Given the description of an element on the screen output the (x, y) to click on. 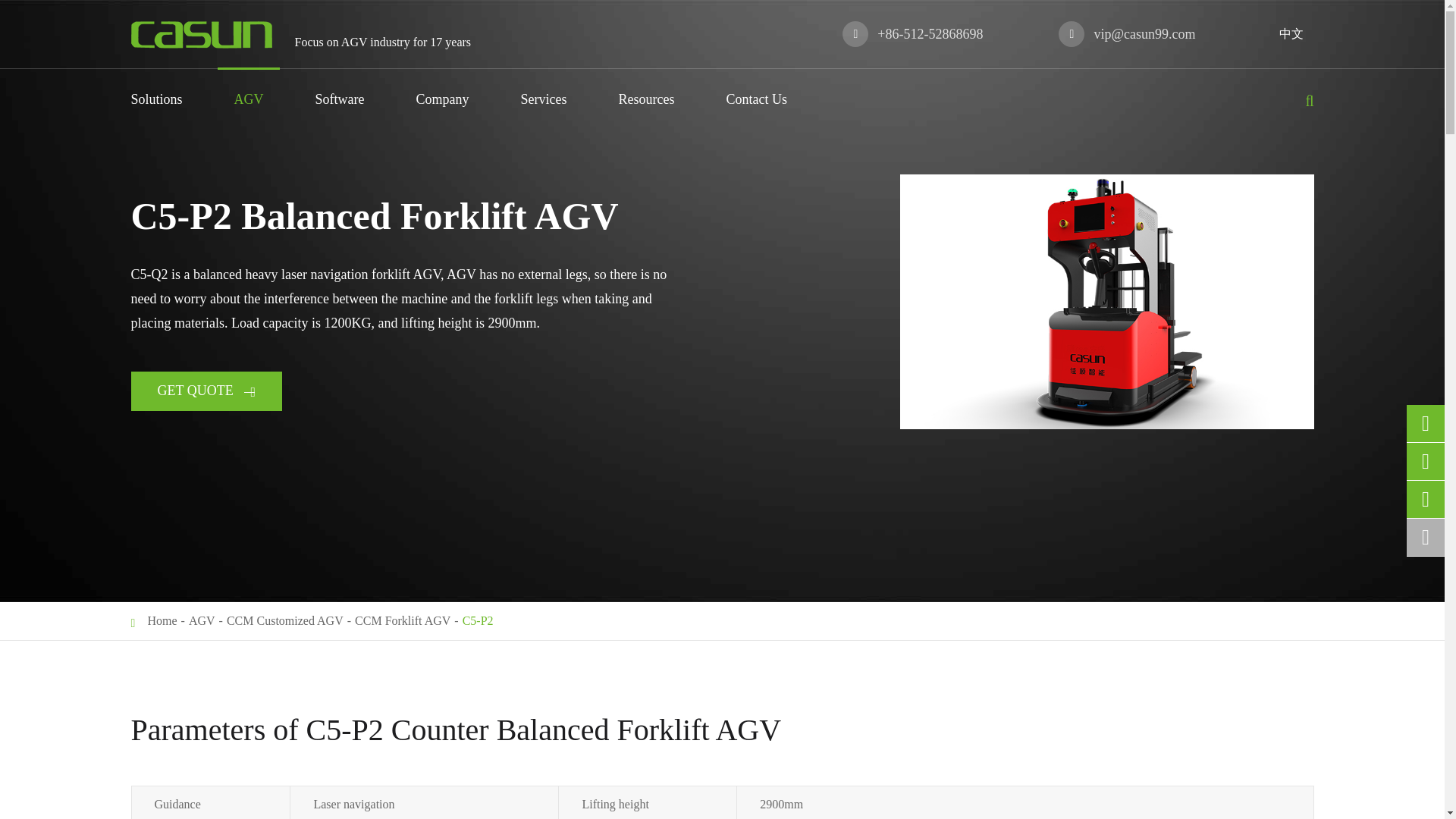
C5-P2 Balanced Forklift AGV (1106, 301)
CCM Forklift AGV (402, 620)
AGV (202, 620)
C5-P2 (478, 620)
CCM Customized AGV (285, 620)
Suzhou Casun Intelligent Robot Co., Ltd. (200, 34)
Focus on AGV industry for 17 years (200, 33)
